Given the description of an element on the screen output the (x, y) to click on. 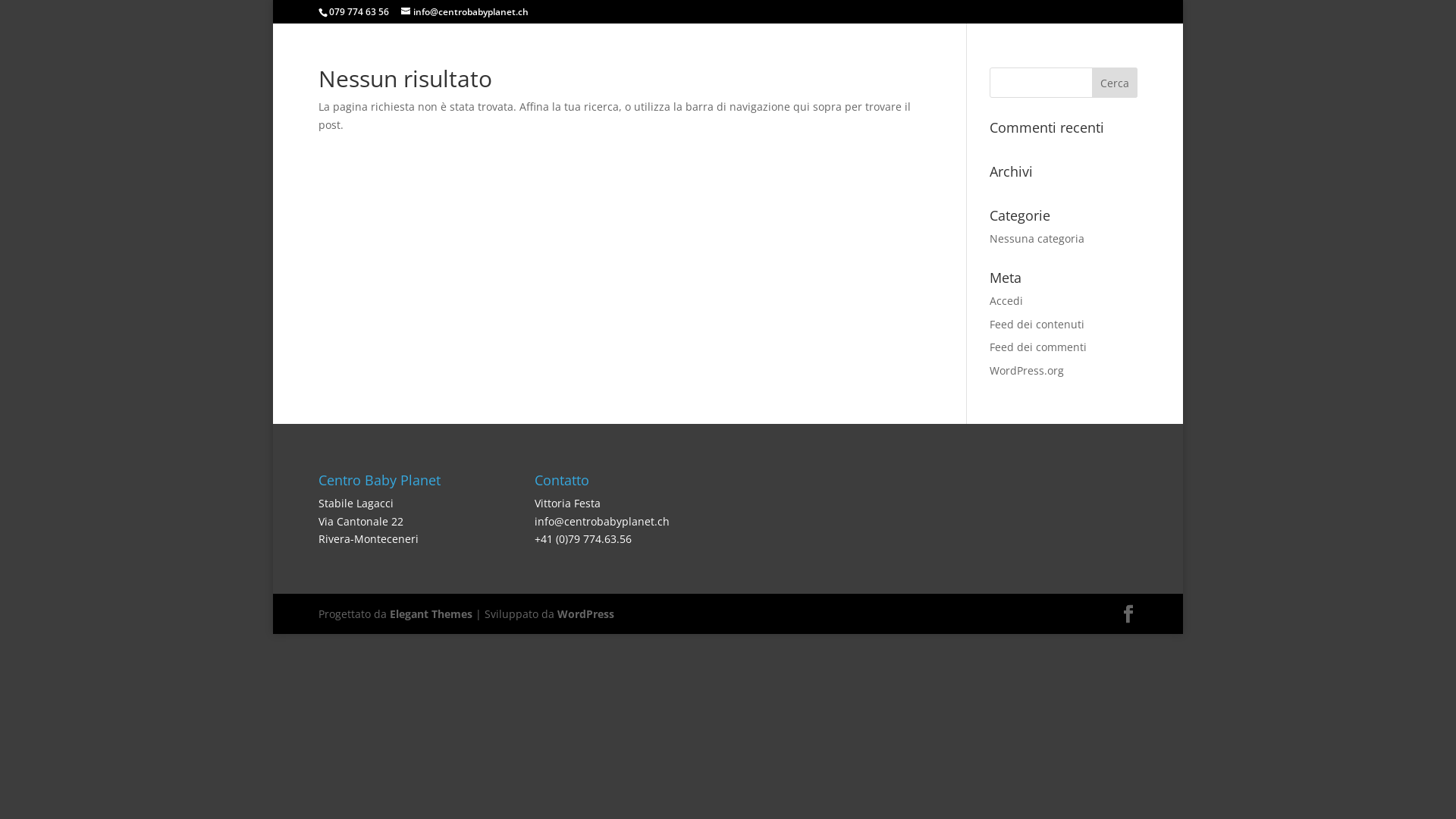
WordPress Element type: text (585, 613)
WordPress.org Element type: text (1026, 370)
Cerca Element type: text (1114, 82)
Feed dei contenuti Element type: text (1036, 323)
Accedi Element type: text (1005, 300)
info@centrobabyplanet.ch Element type: text (464, 11)
Feed dei commenti Element type: text (1037, 346)
Elegant Themes Element type: text (430, 613)
